Given the description of an element on the screen output the (x, y) to click on. 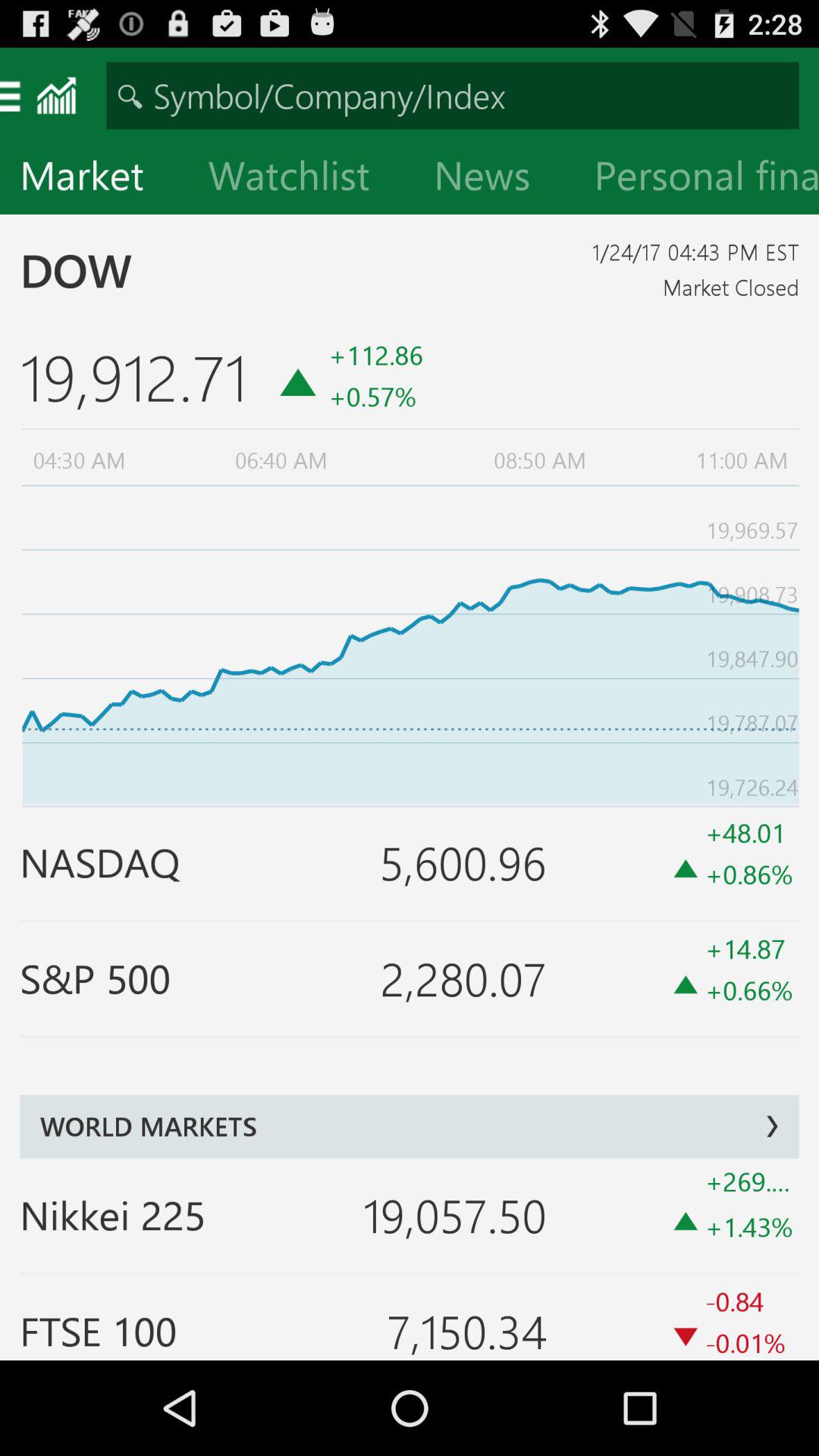
open item to the left of the 1 24 17 item (183, 270)
